Given the description of an element on the screen output the (x, y) to click on. 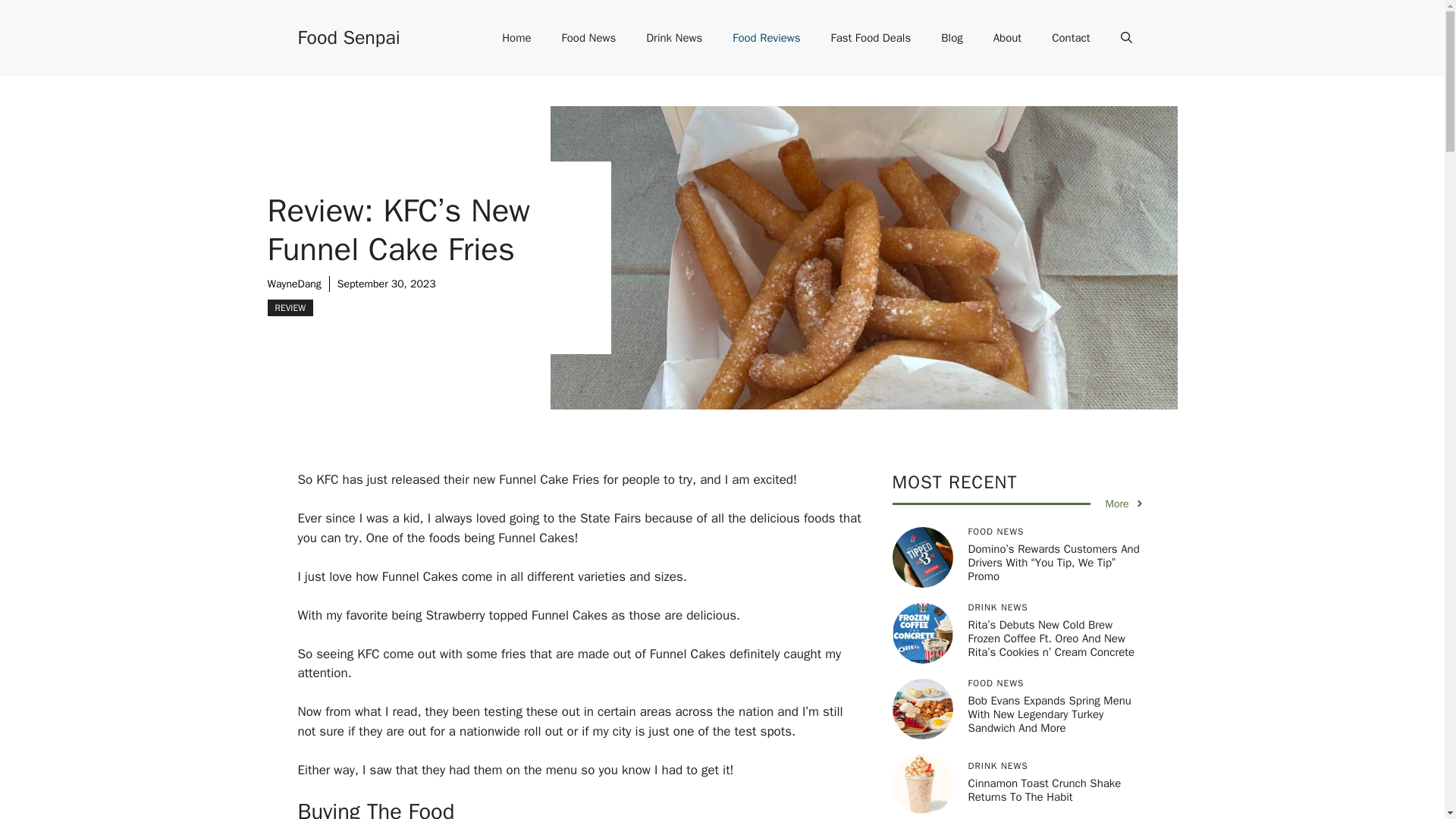
Fast Food Deals (870, 37)
Blog (951, 37)
Drink News (673, 37)
About (1007, 37)
Food Reviews (766, 37)
More (1124, 503)
Food News (589, 37)
Cinnamon Toast Crunch Shake Returns To The Habit (1044, 789)
Food Senpai (347, 37)
